Given the description of an element on the screen output the (x, y) to click on. 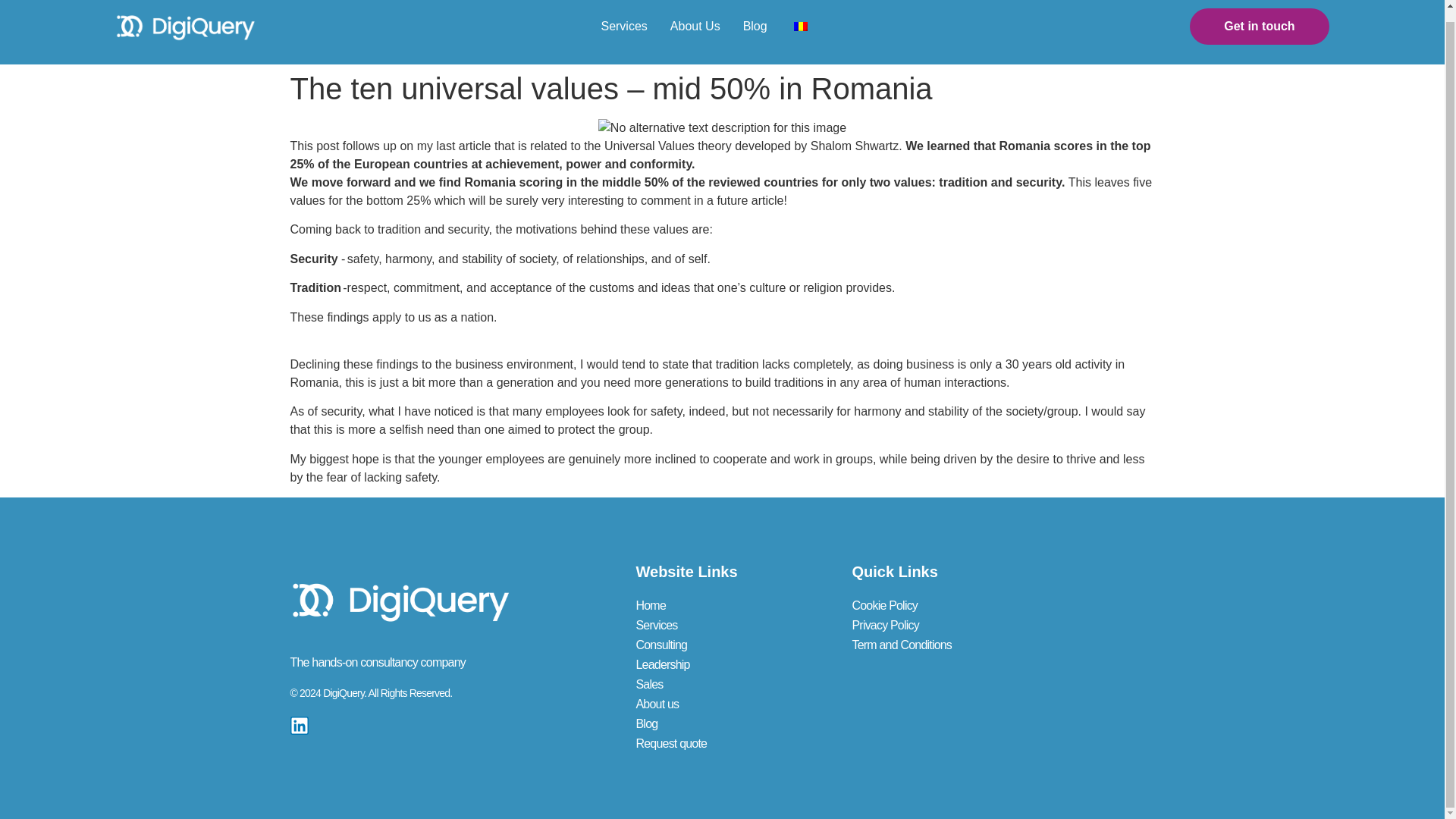
Cookie Policy (916, 605)
About Us (694, 26)
Blog (754, 26)
Services (622, 26)
Romanian (800, 26)
Privacy Policy (916, 625)
About us (699, 704)
Services (699, 625)
Sales (699, 684)
Term and Conditions (916, 645)
